Given the description of an element on the screen output the (x, y) to click on. 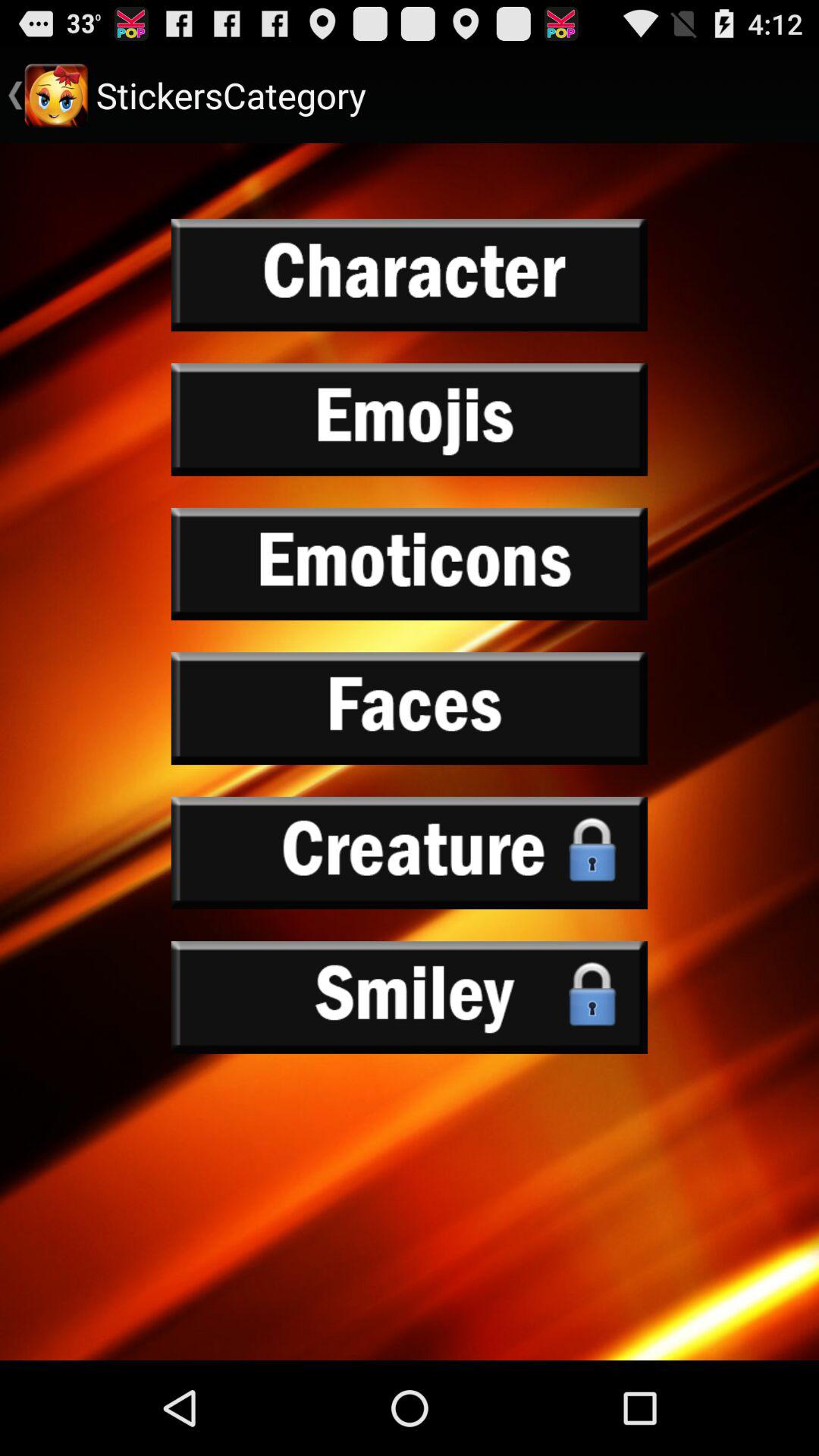
show available emojis (409, 419)
